Given the description of an element on the screen output the (x, y) to click on. 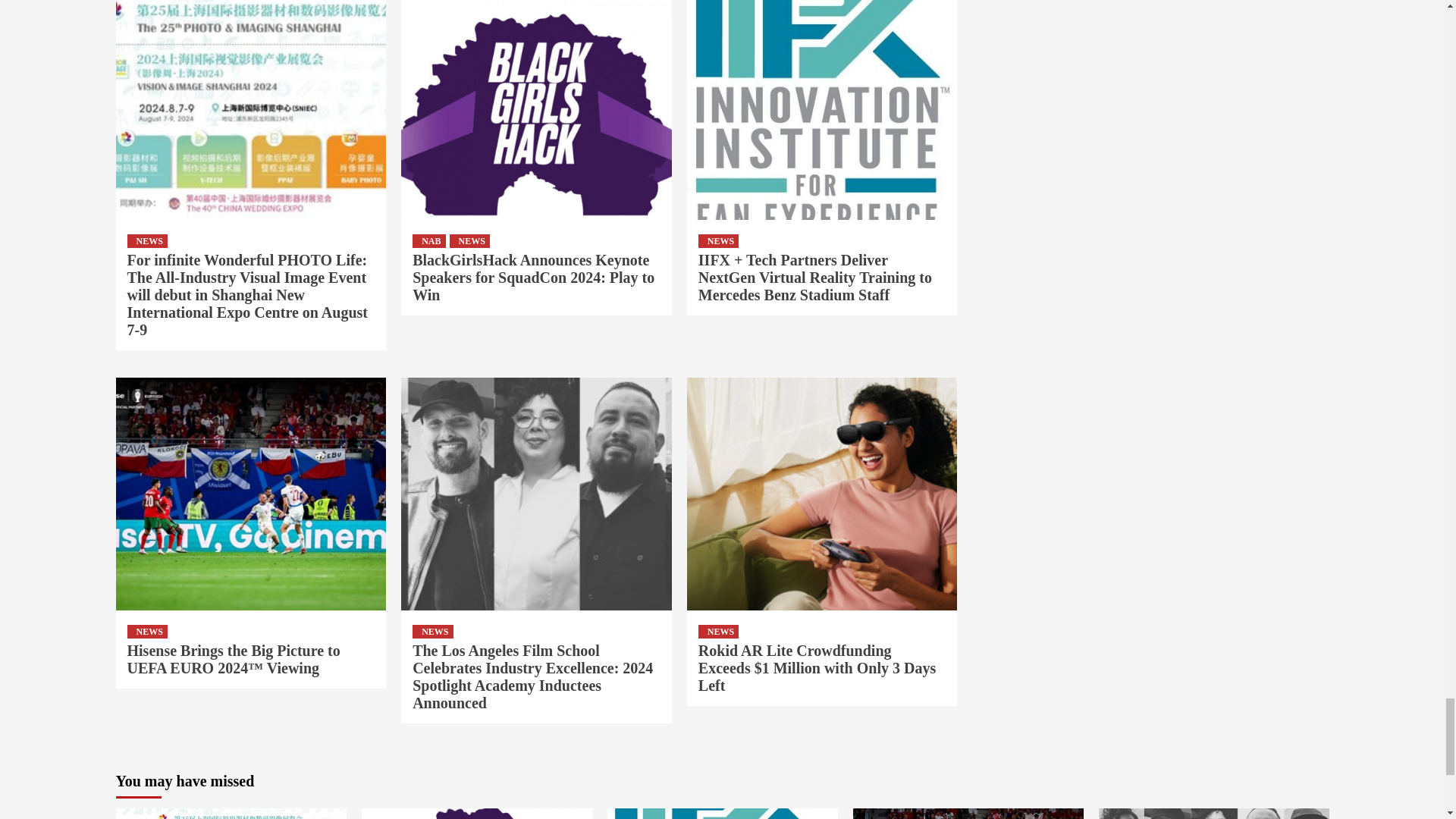
NEWS (147, 241)
